Given the description of an element on the screen output the (x, y) to click on. 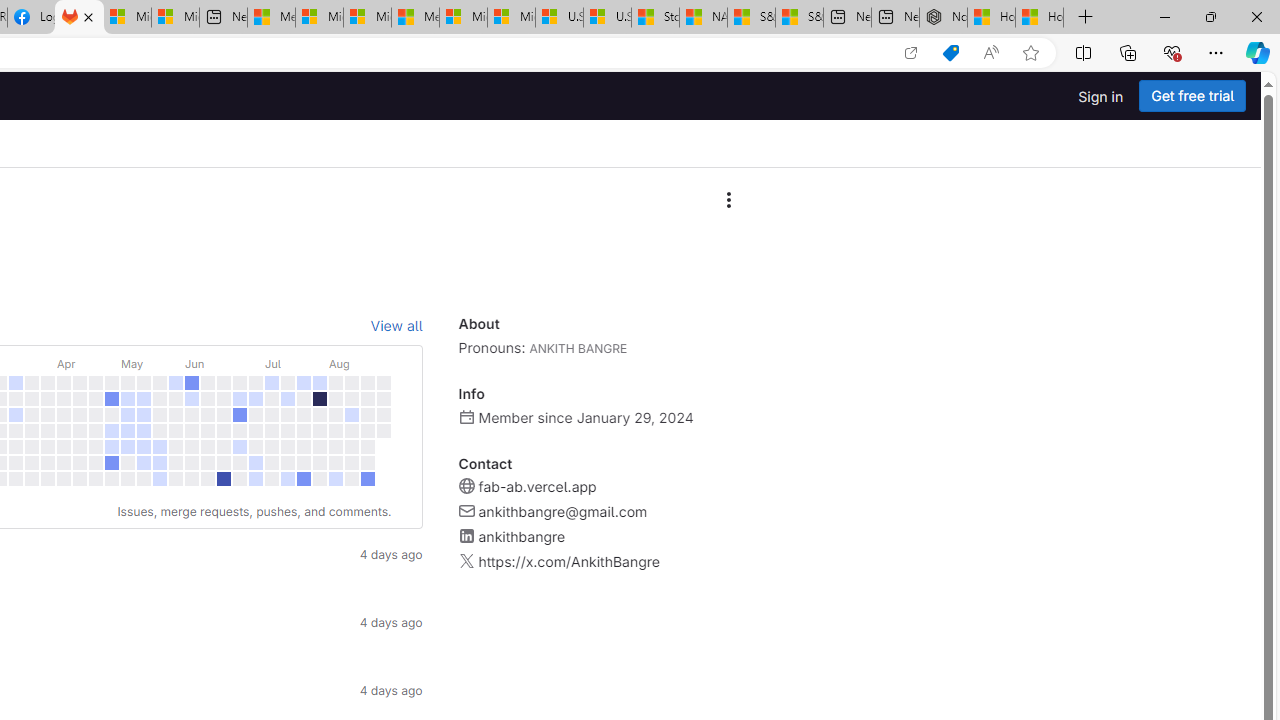
Shopping in Microsoft Edge (950, 53)
Sign in (1100, 95)
